Given the description of an element on the screen output the (x, y) to click on. 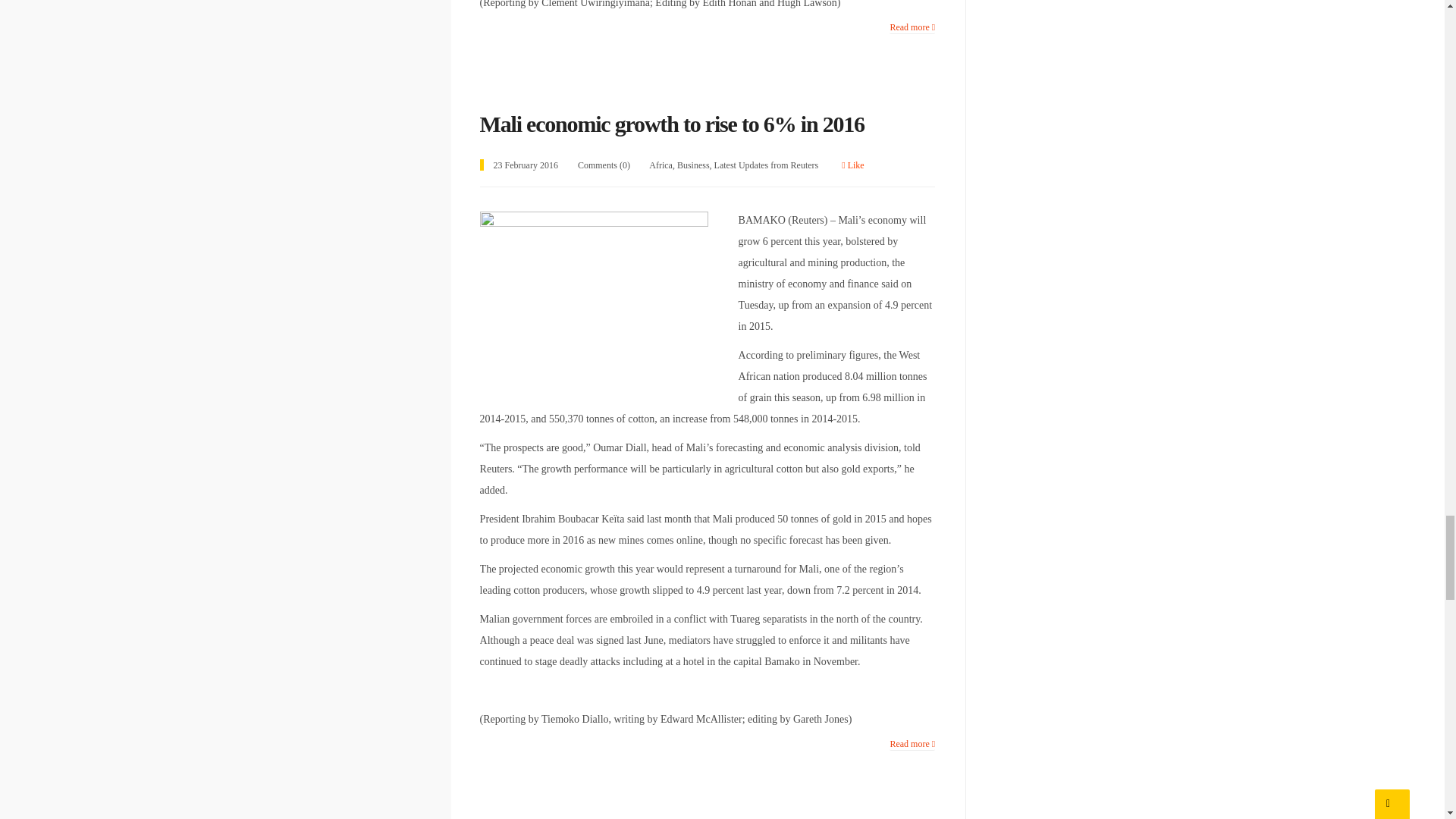
Like (852, 164)
